Given the description of an element on the screen output the (x, y) to click on. 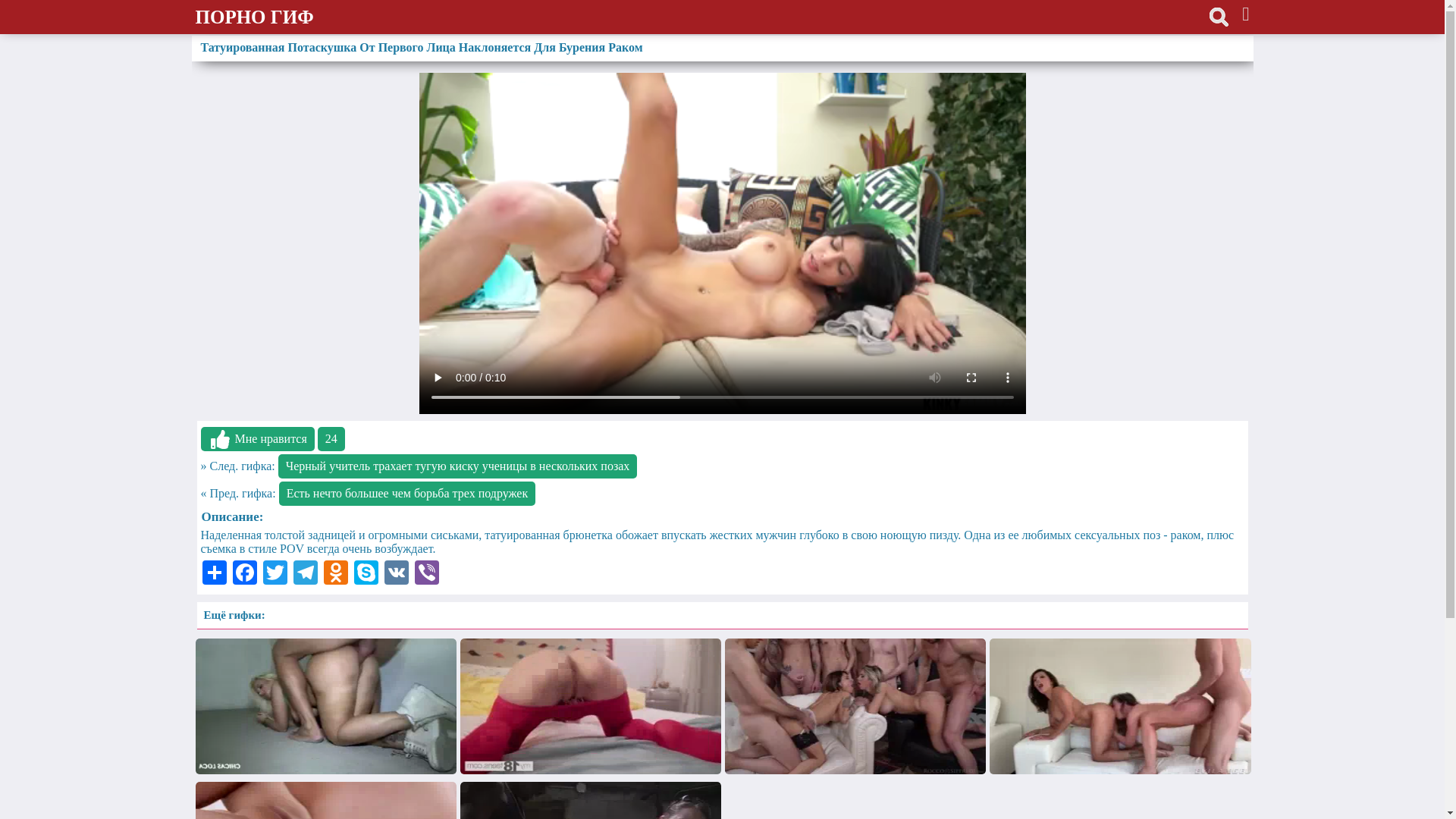
Viber Element type: text (425, 572)
Skype Element type: text (365, 572)
Odnoklassniki Element type: text (334, 572)
Twitter Element type: text (274, 572)
VK Element type: text (395, 572)
Share Element type: text (213, 572)
Facebook Element type: text (243, 572)
Telegram Element type: text (304, 572)
24 Element type: text (331, 438)
